Given the description of an element on the screen output the (x, y) to click on. 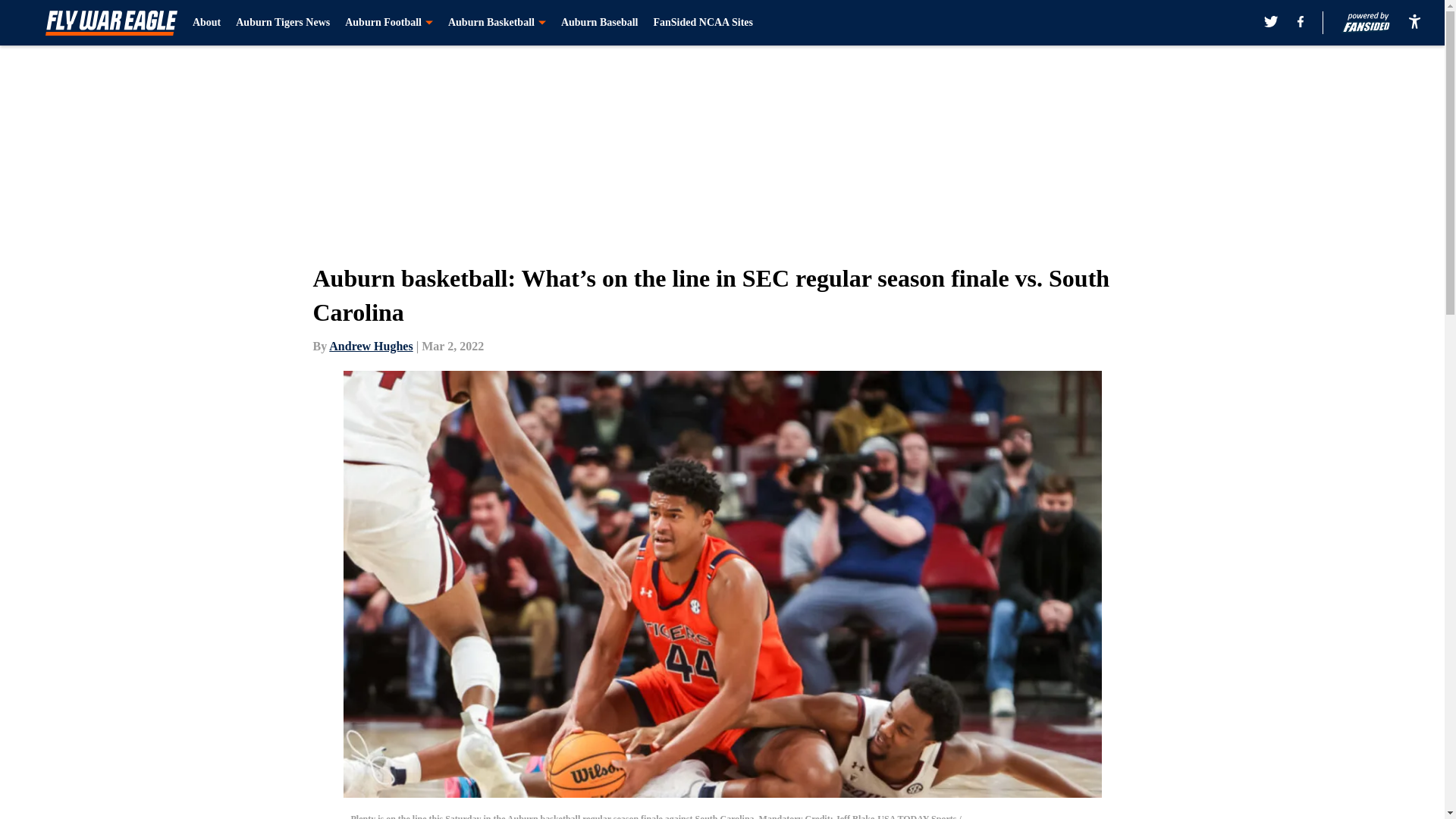
Andrew Hughes (370, 345)
About (206, 22)
FanSided NCAA Sites (702, 22)
Auburn Tigers News (282, 22)
Auburn Baseball (599, 22)
